Given the description of an element on the screen output the (x, y) to click on. 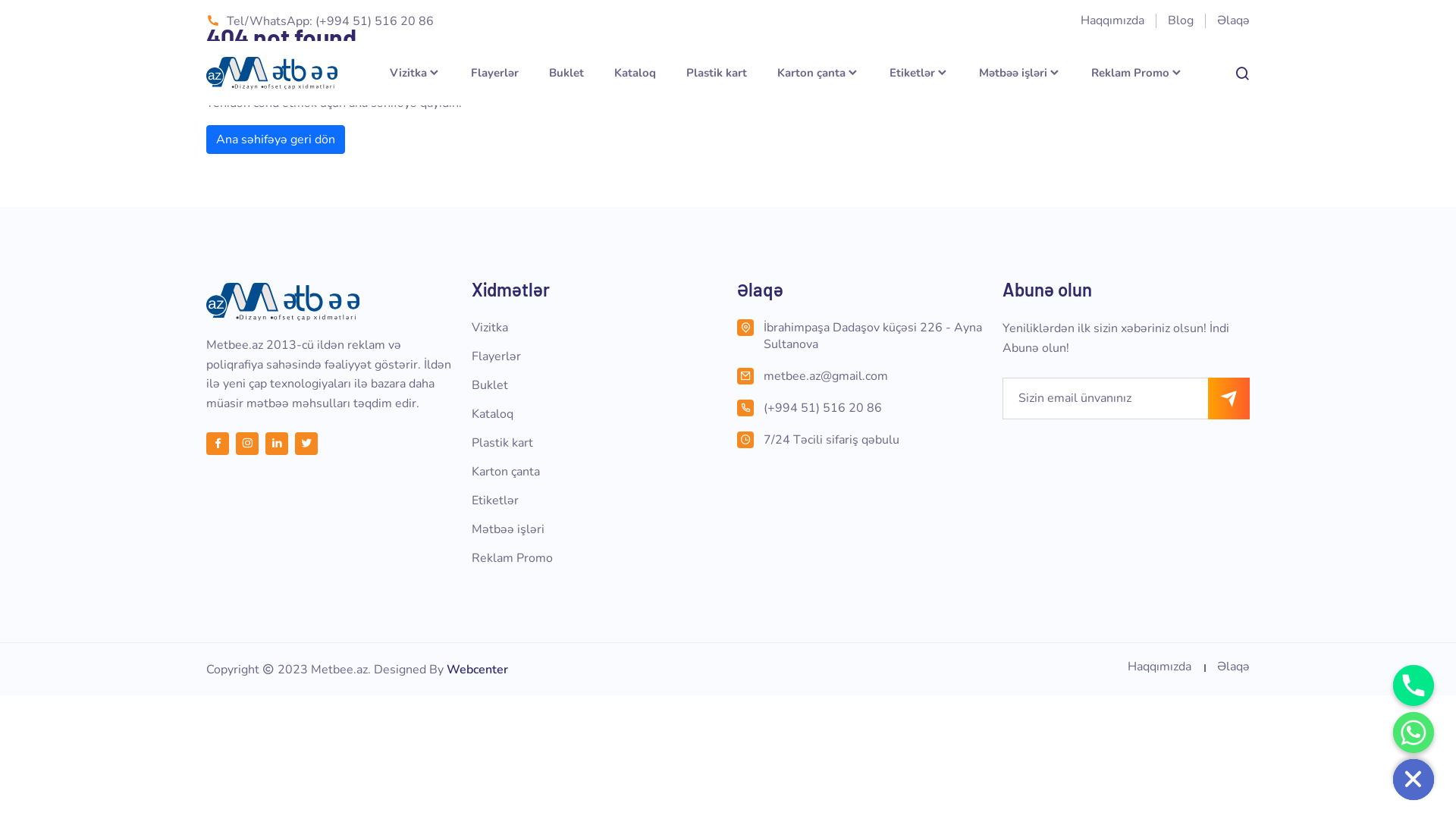
Vizitka Element type: text (489, 327)
Reklam Promo Element type: text (511, 557)
Tel/WhatsApp: (+994 51) 516 20 86 Element type: text (319, 20)
Kataloq Element type: text (492, 413)
Plastik kart Element type: text (716, 72)
Buklet Element type: text (566, 72)
Reklam Promo Element type: text (1137, 72)
Kataloq Element type: text (634, 72)
Vizitka Element type: text (414, 72)
Buklet Element type: text (489, 384)
(+994 51) 516 20 86 Element type: text (873, 407)
Plastik kart Element type: text (502, 442)
Webcenter Element type: text (477, 669)
Blog Element type: text (1180, 20)
metbee.az@gmail.com Element type: text (873, 375)
